Given the description of an element on the screen output the (x, y) to click on. 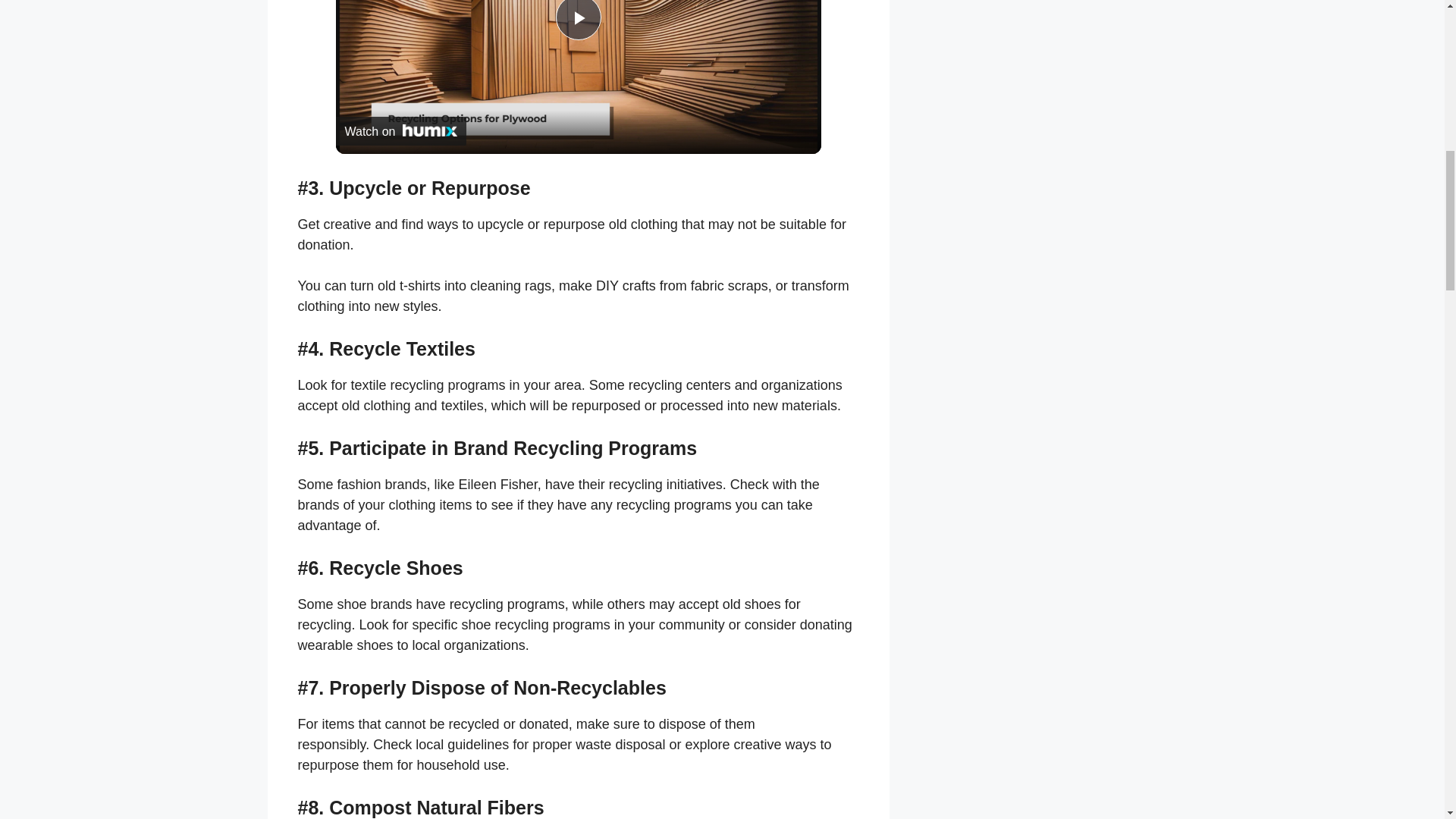
Watch on (399, 131)
Play Video (576, 20)
Play Video (576, 20)
